Given the description of an element on the screen output the (x, y) to click on. 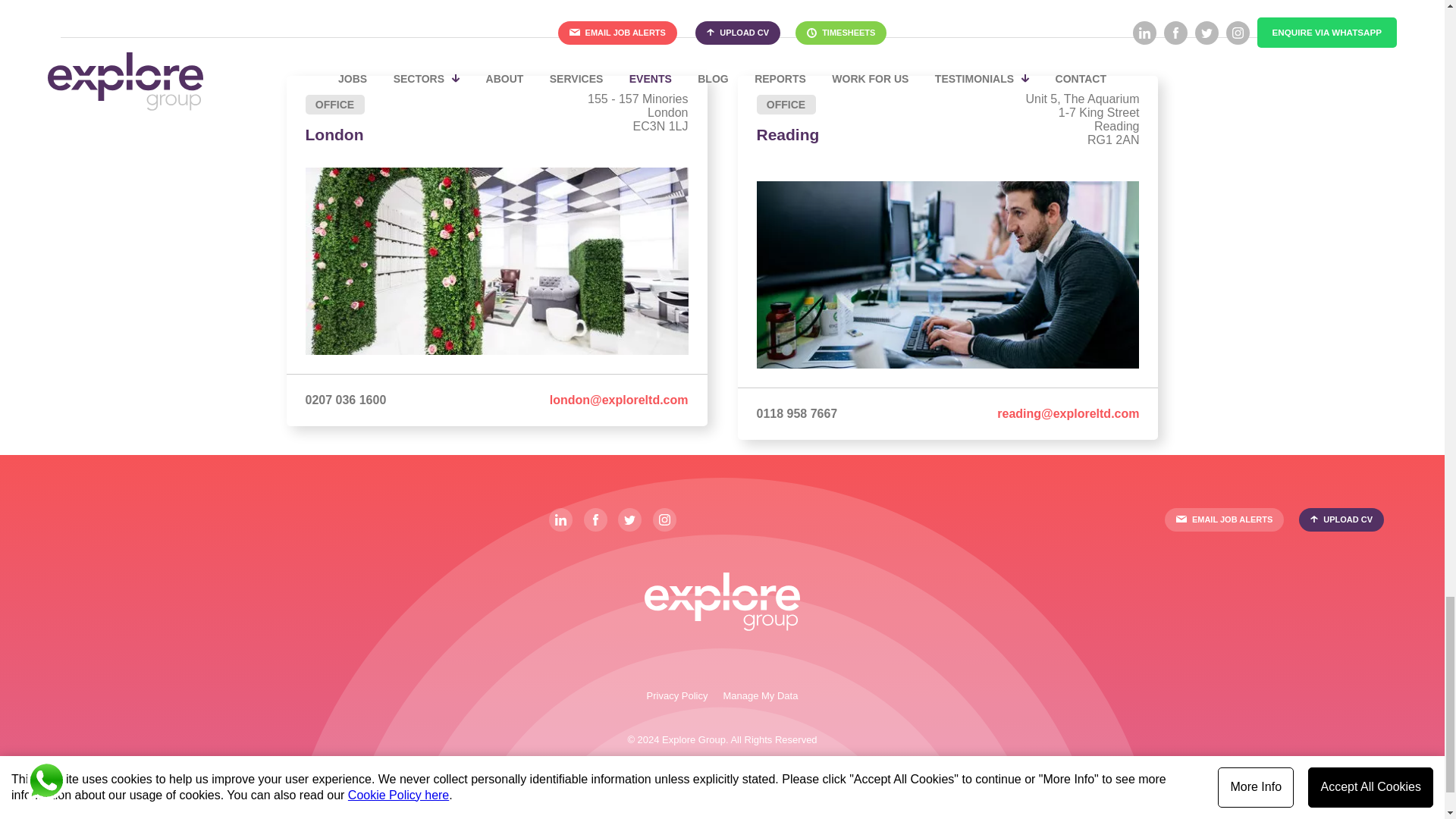
Manage My Data (759, 695)
Privacy Policy (676, 695)
